Given the description of an element on the screen output the (x, y) to click on. 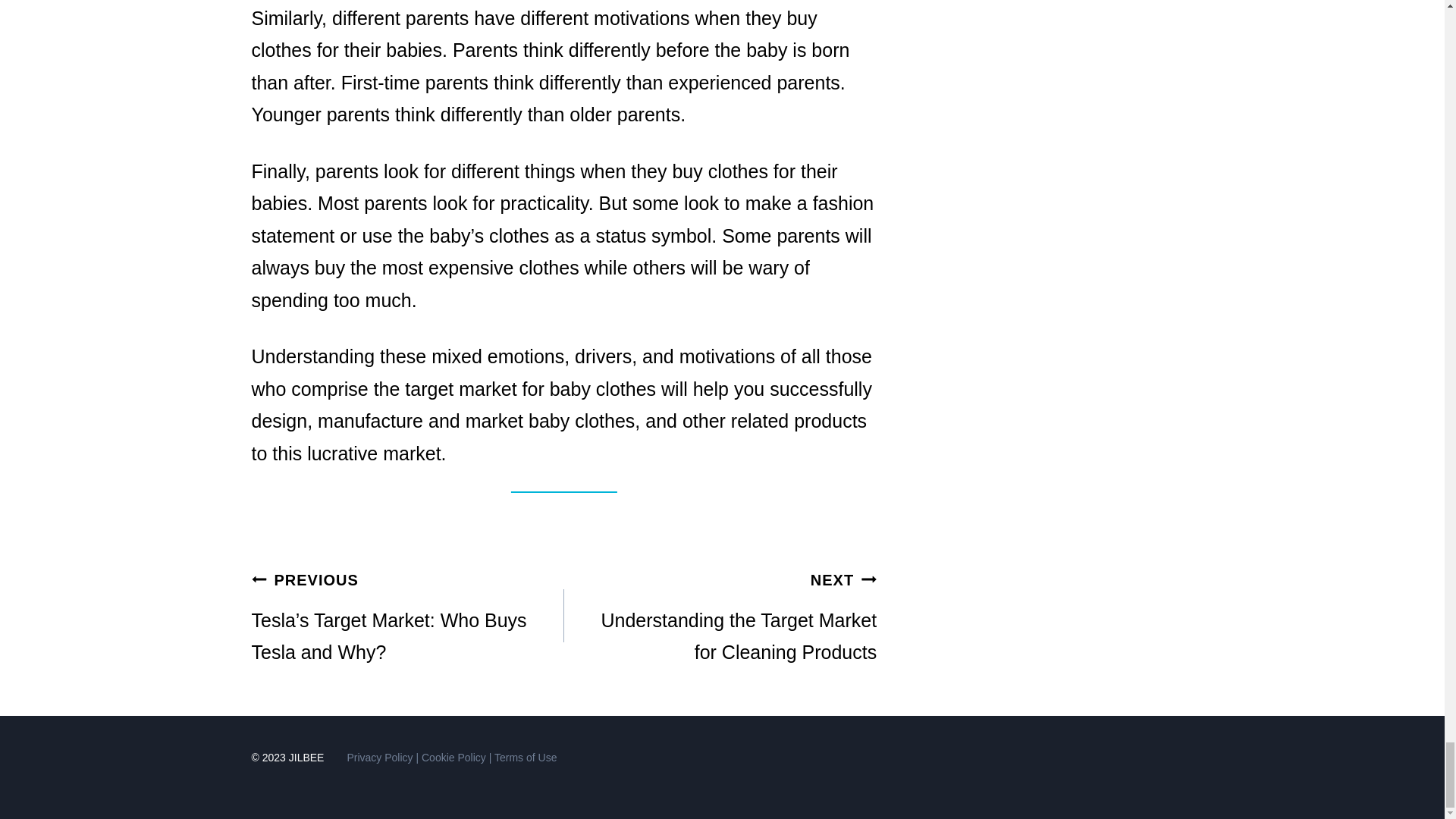
Terms of Use (525, 757)
Privacy Policy (379, 757)
Cookie Policy (720, 615)
